Given the description of an element on the screen output the (x, y) to click on. 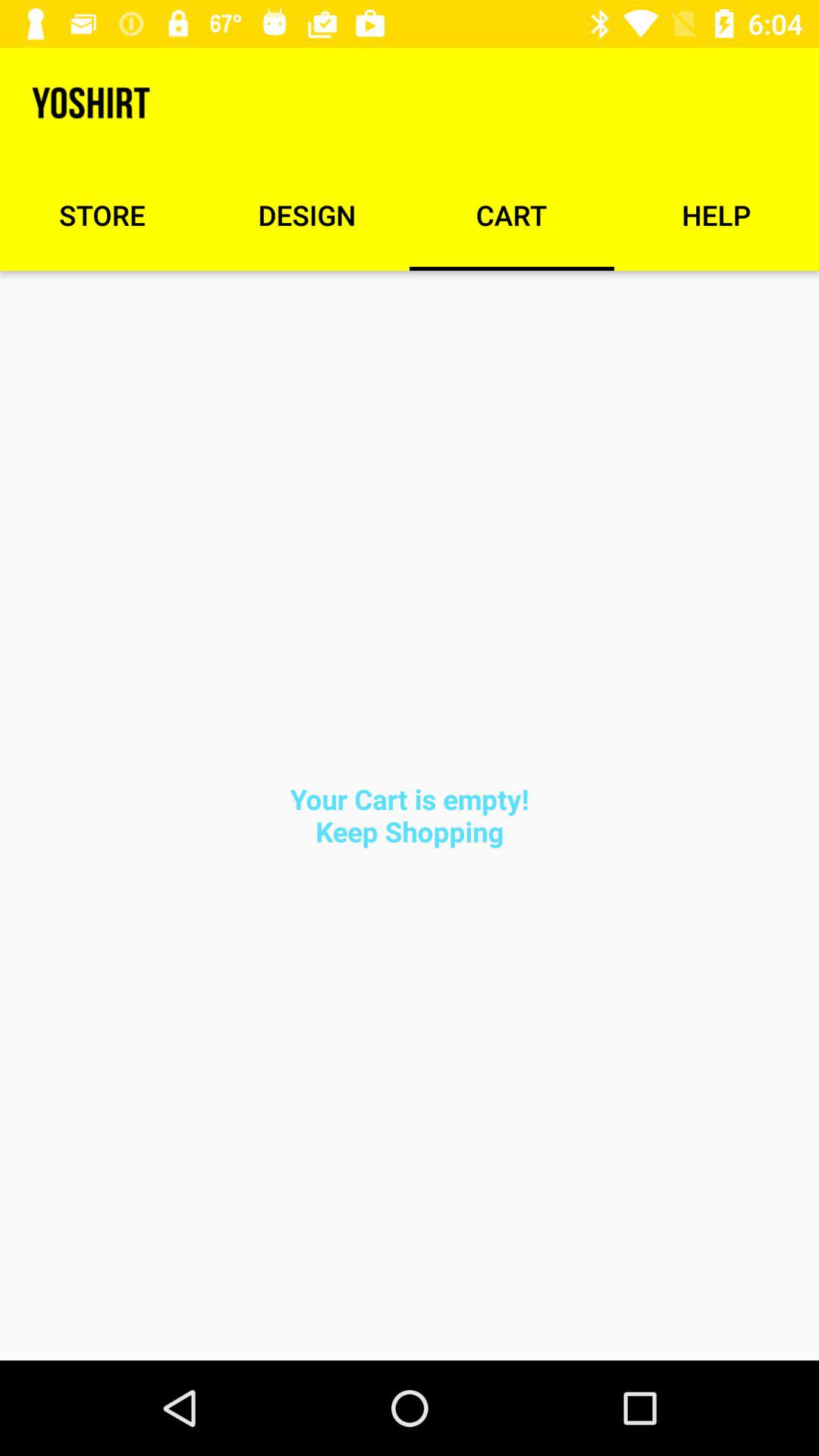
open the item below store item (409, 815)
